Given the description of an element on the screen output the (x, y) to click on. 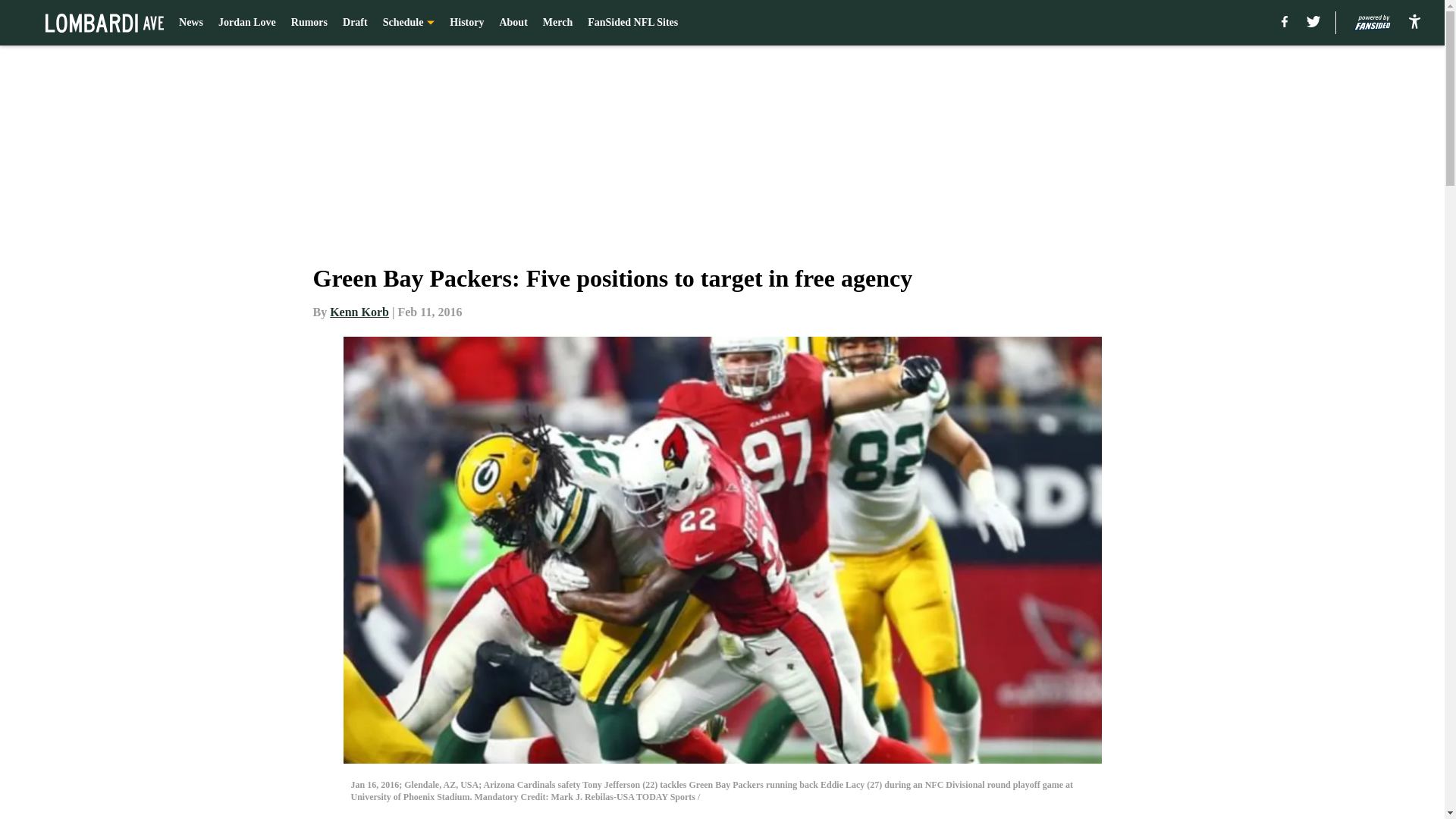
History (466, 22)
Jordan Love (247, 22)
Merch (557, 22)
Rumors (309, 22)
About (513, 22)
FanSided NFL Sites (633, 22)
Draft (355, 22)
Kenn Korb (359, 311)
News (191, 22)
